Given the description of an element on the screen output the (x, y) to click on. 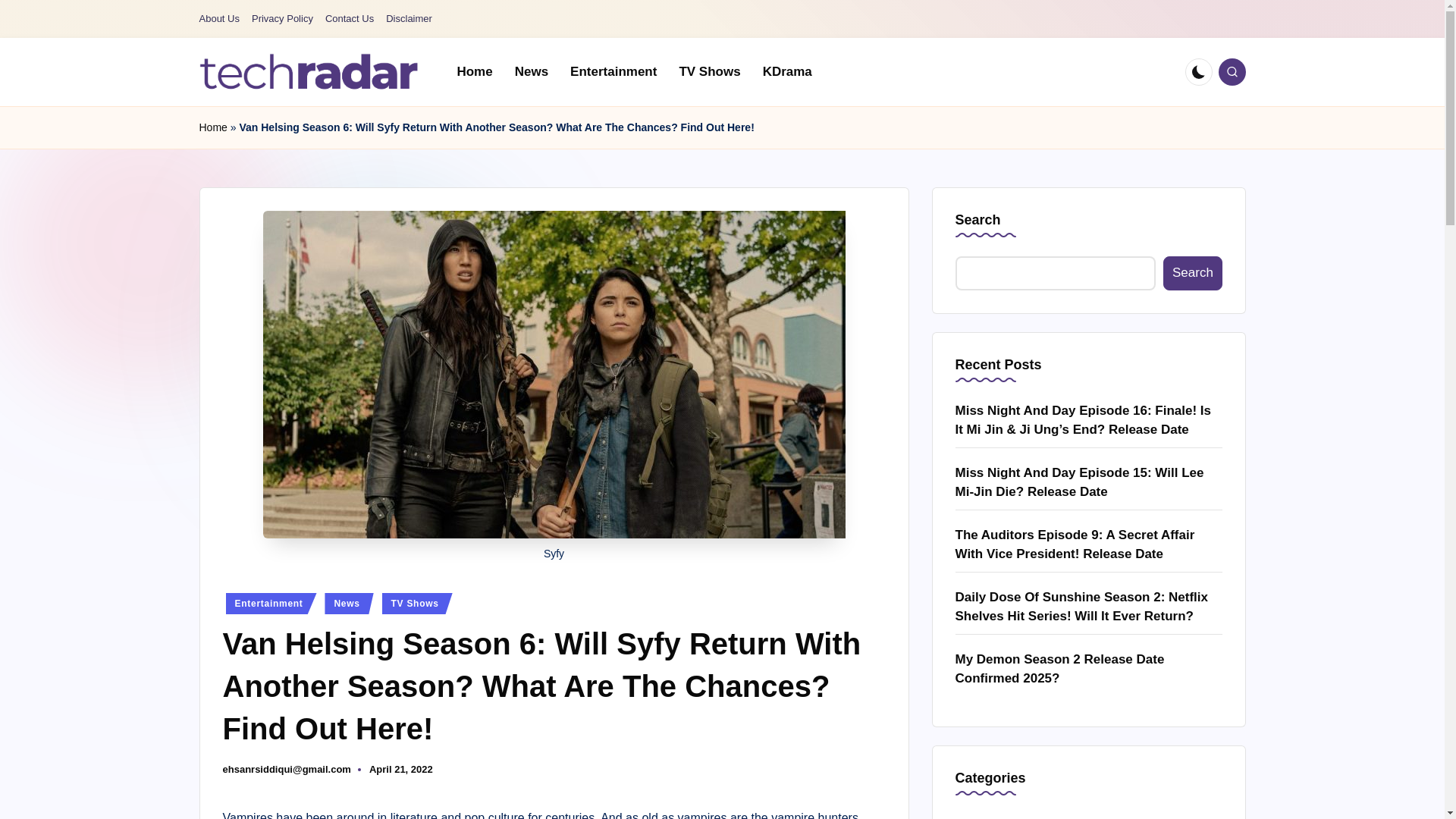
TV Shows (416, 603)
My Demon Season 2 Release Date Confirmed 2025? (1089, 669)
News (531, 71)
About Us (218, 18)
Entertainment (271, 603)
Home (473, 71)
Entertainment (612, 71)
Contact Us (349, 18)
Android (1089, 816)
Home (212, 127)
KDrama (787, 71)
Privacy Policy (282, 18)
Disclaimer (408, 18)
